Given the description of an element on the screen output the (x, y) to click on. 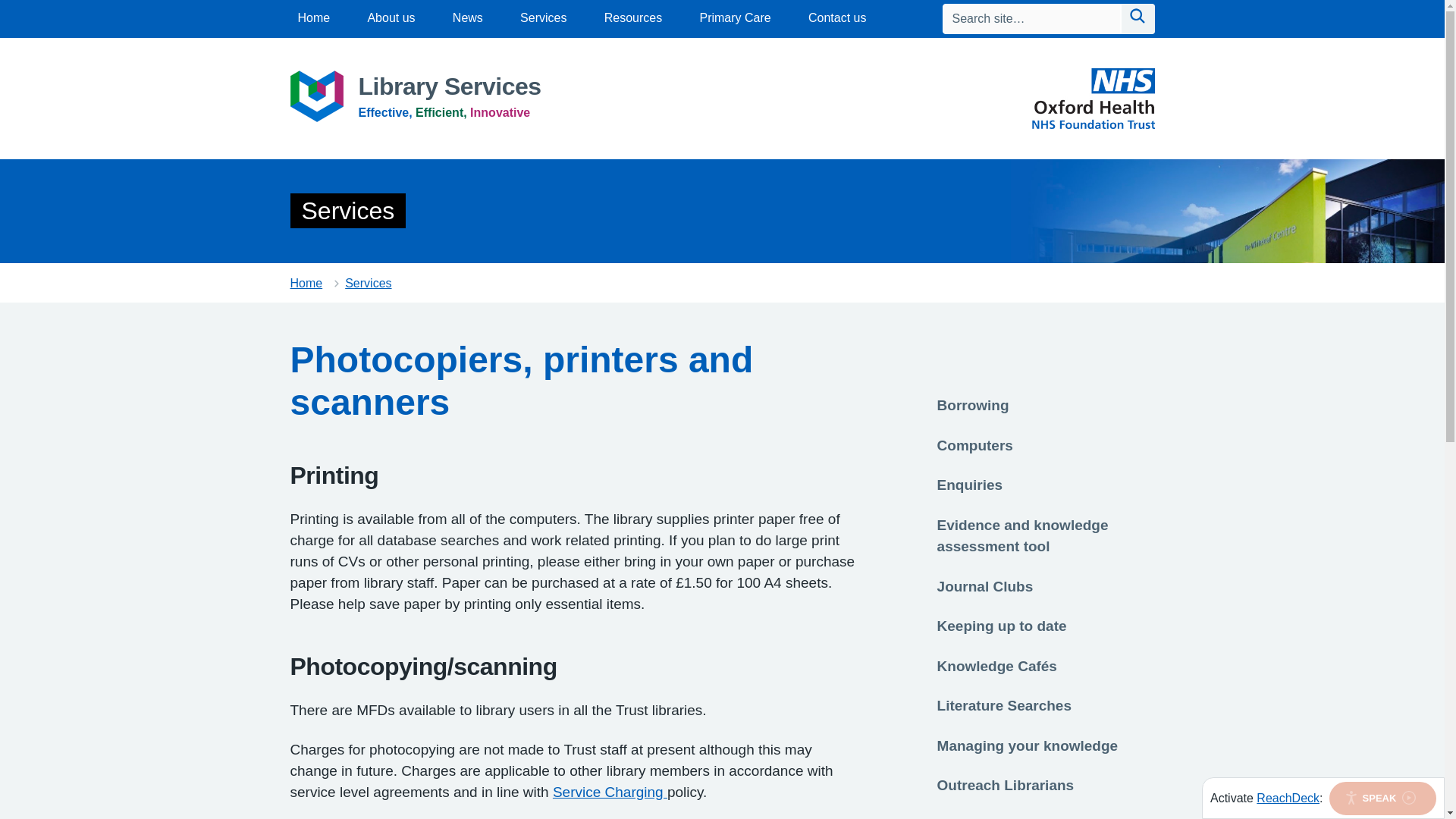
Outreach Librarians (1005, 783)
Home (305, 282)
Managing your knowledge (1027, 743)
About us (390, 18)
Contact us (837, 18)
Primary Care (734, 18)
Services (542, 18)
Service charges (609, 791)
Enquiries (970, 483)
Evidence and knowledge assessment tool (1022, 534)
News (467, 18)
Borrowing (973, 403)
Resources (633, 18)
Home (313, 18)
Computers (975, 443)
